Given the description of an element on the screen output the (x, y) to click on. 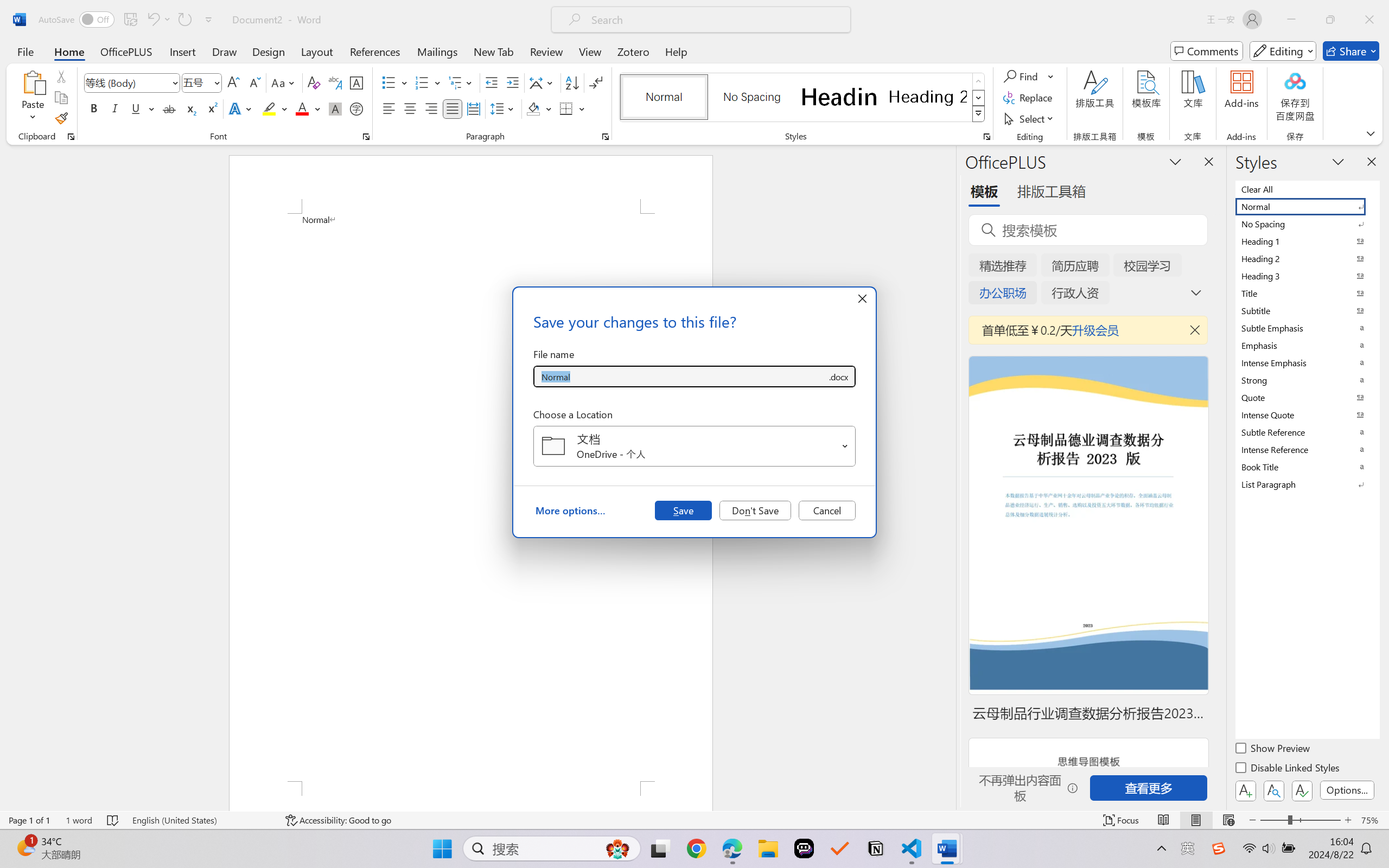
Subscript (190, 108)
Save (682, 509)
Ribbon Display Options (1370, 132)
Insert (182, 51)
Save as type (837, 376)
Poe (804, 848)
